Given the description of an element on the screen output the (x, y) to click on. 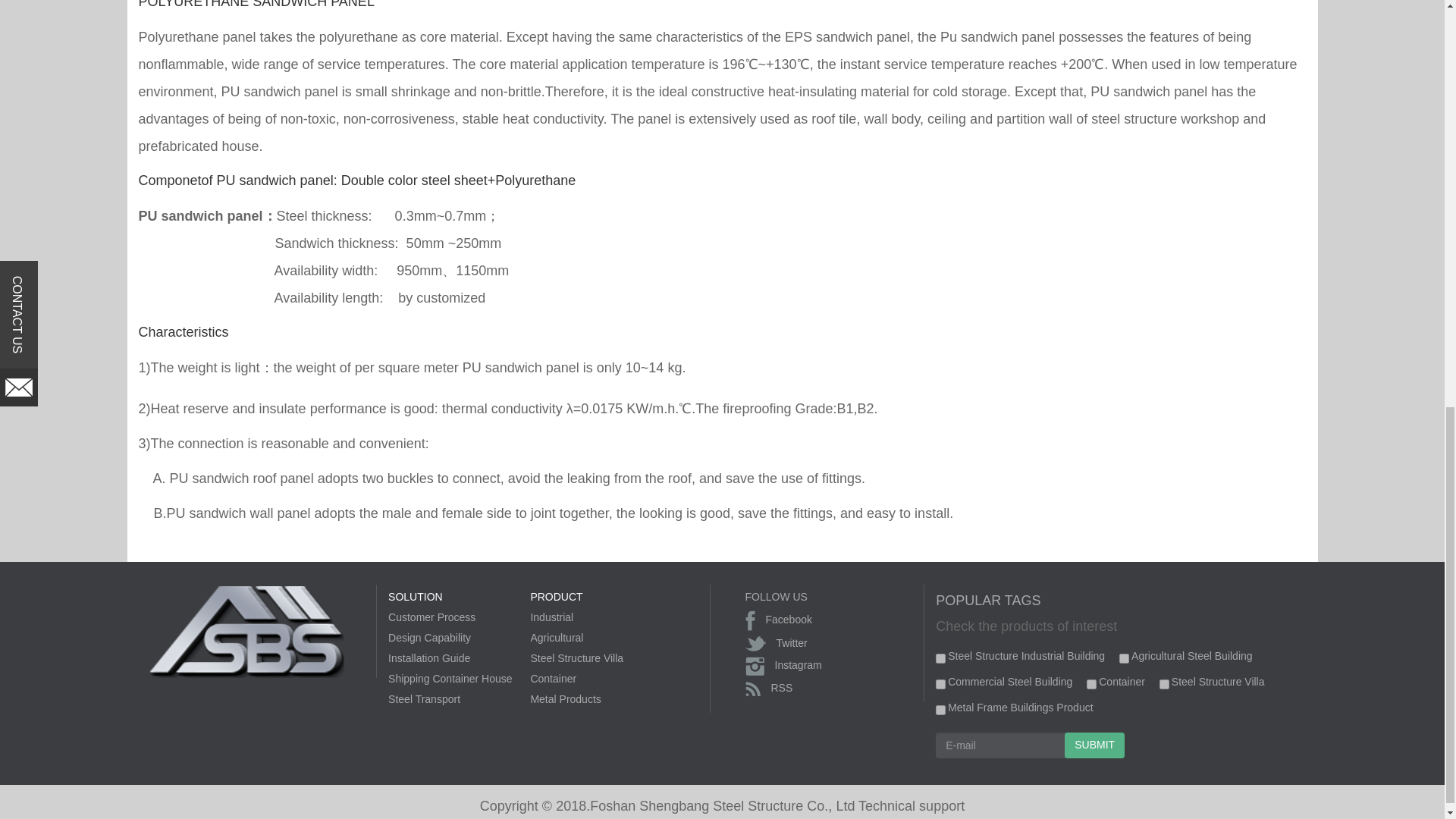
Commercial Steel Building (940, 684)
Steel Structure Industrial Building (940, 658)
Agricultural Steel Building (1124, 658)
Container (1091, 684)
Metal Frame Buildings Product (940, 709)
Steel Structure Villa (1163, 684)
